Given the description of an element on the screen output the (x, y) to click on. 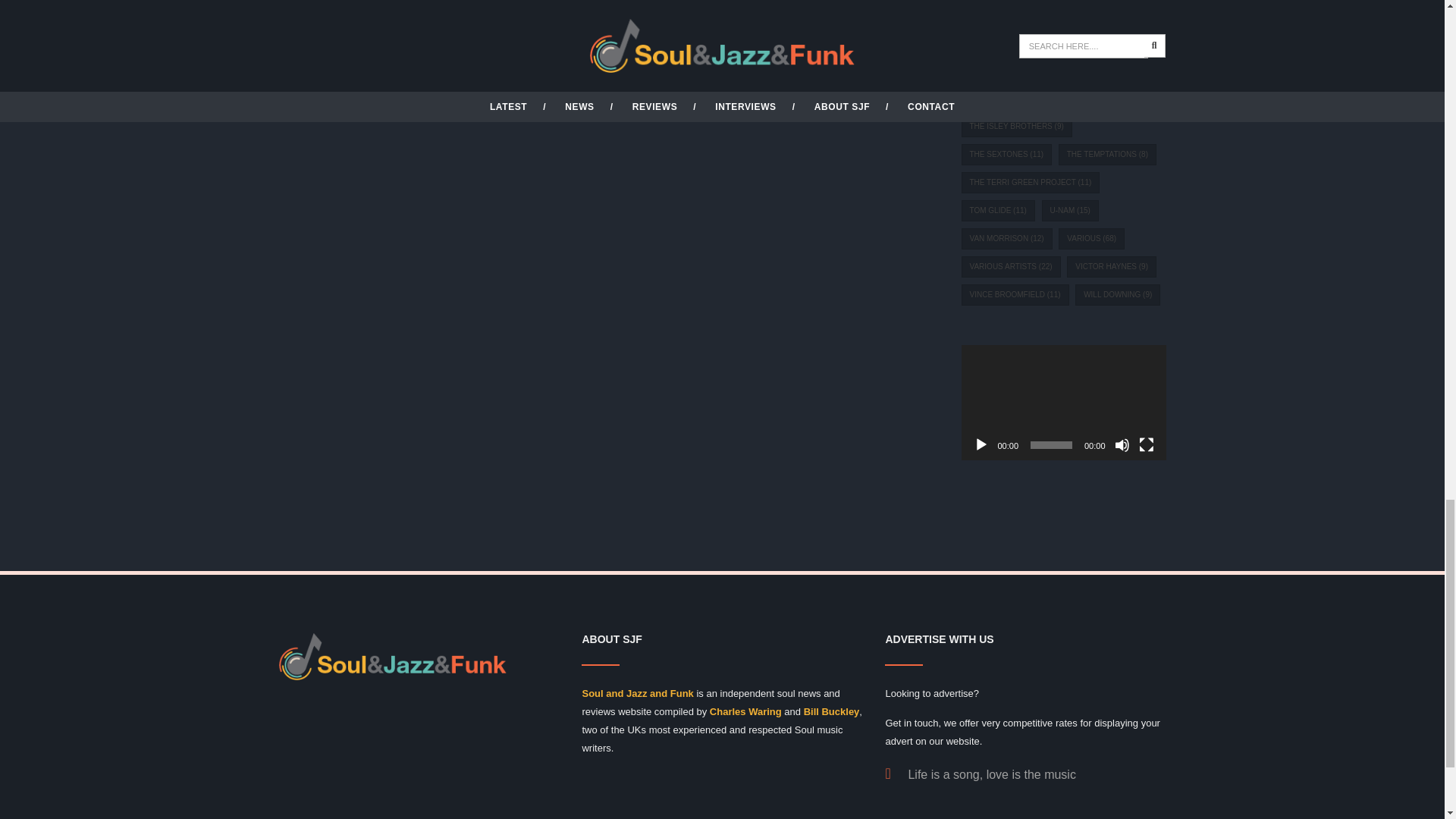
Play (981, 444)
Mute (1122, 444)
Fullscreen (1146, 444)
